Given the description of an element on the screen output the (x, y) to click on. 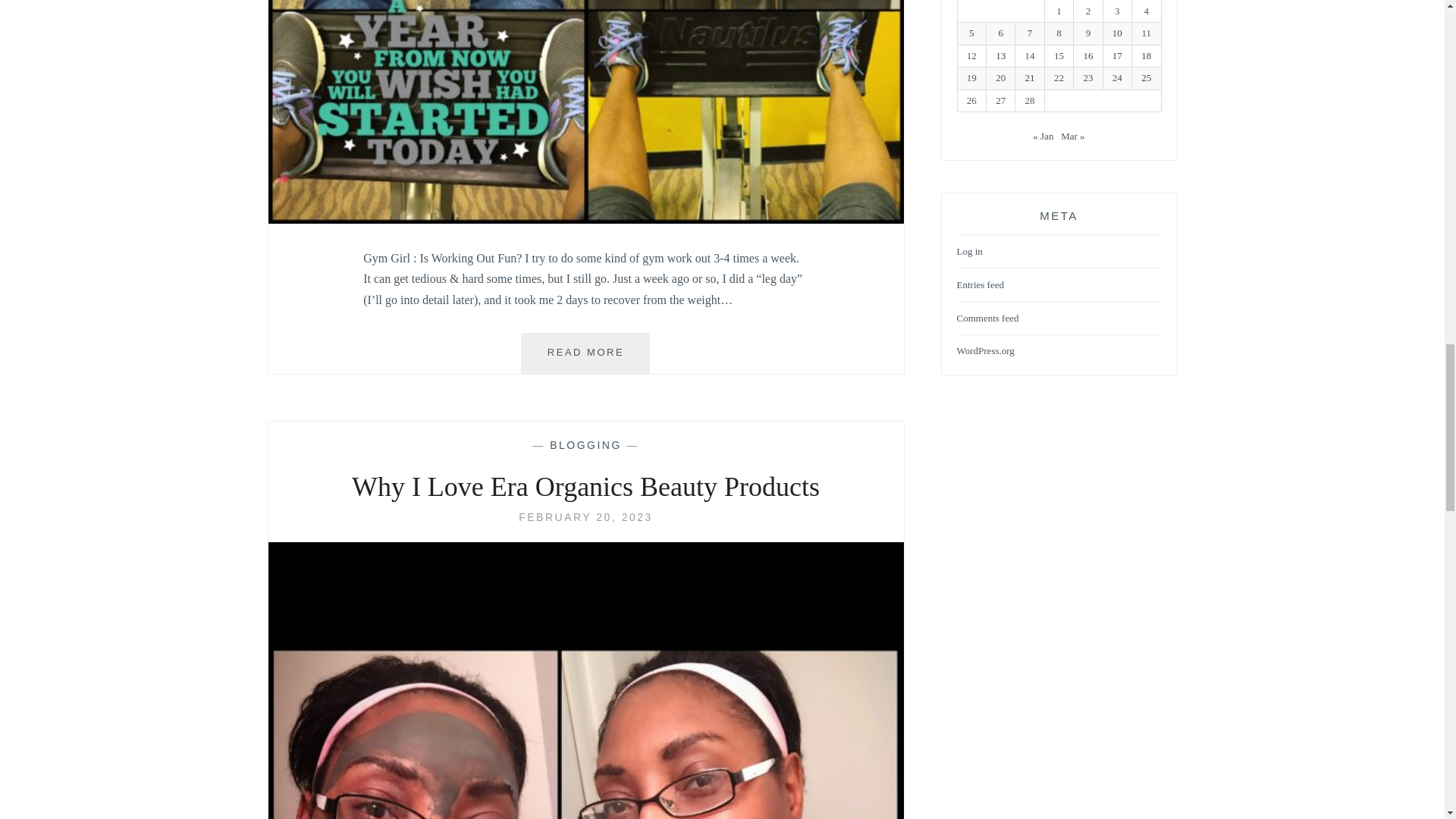
Gym Girl : Why I Work Out (585, 352)
FEBRUARY 20, 2023 (585, 219)
Why I Love Era Organics Beauty Products (585, 517)
Why I Love Era Organics Beauty Products (585, 487)
BLOGGING (585, 517)
